Given the description of an element on the screen output the (x, y) to click on. 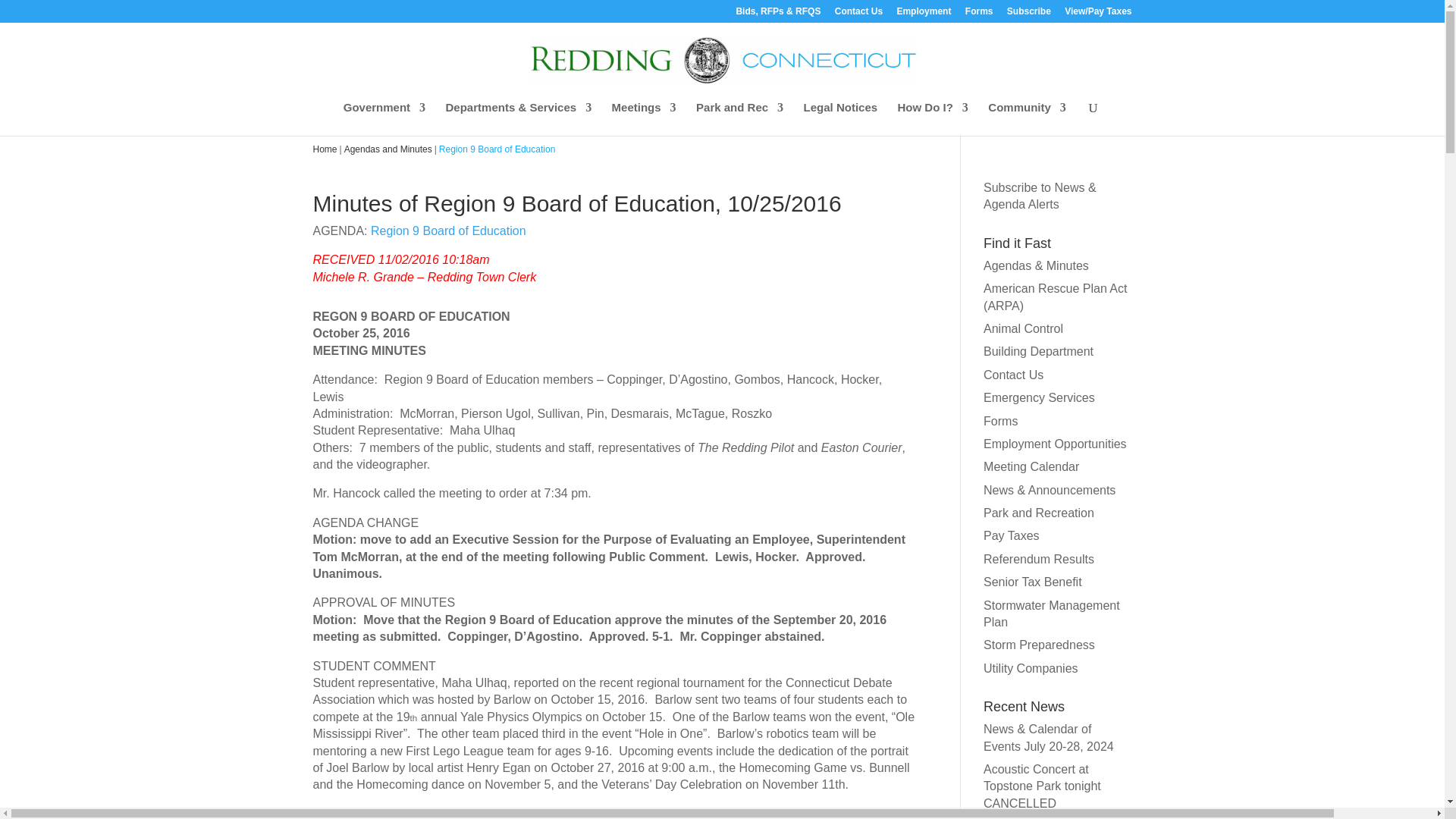
Subscribe (1029, 14)
Contact Us (858, 14)
Forms (978, 14)
Go to Town of Redding, Connecticut Official Website. (324, 149)
Go to Agendas and Minutes. (387, 149)
Employment (923, 14)
Government (384, 118)
